Given the description of an element on the screen output the (x, y) to click on. 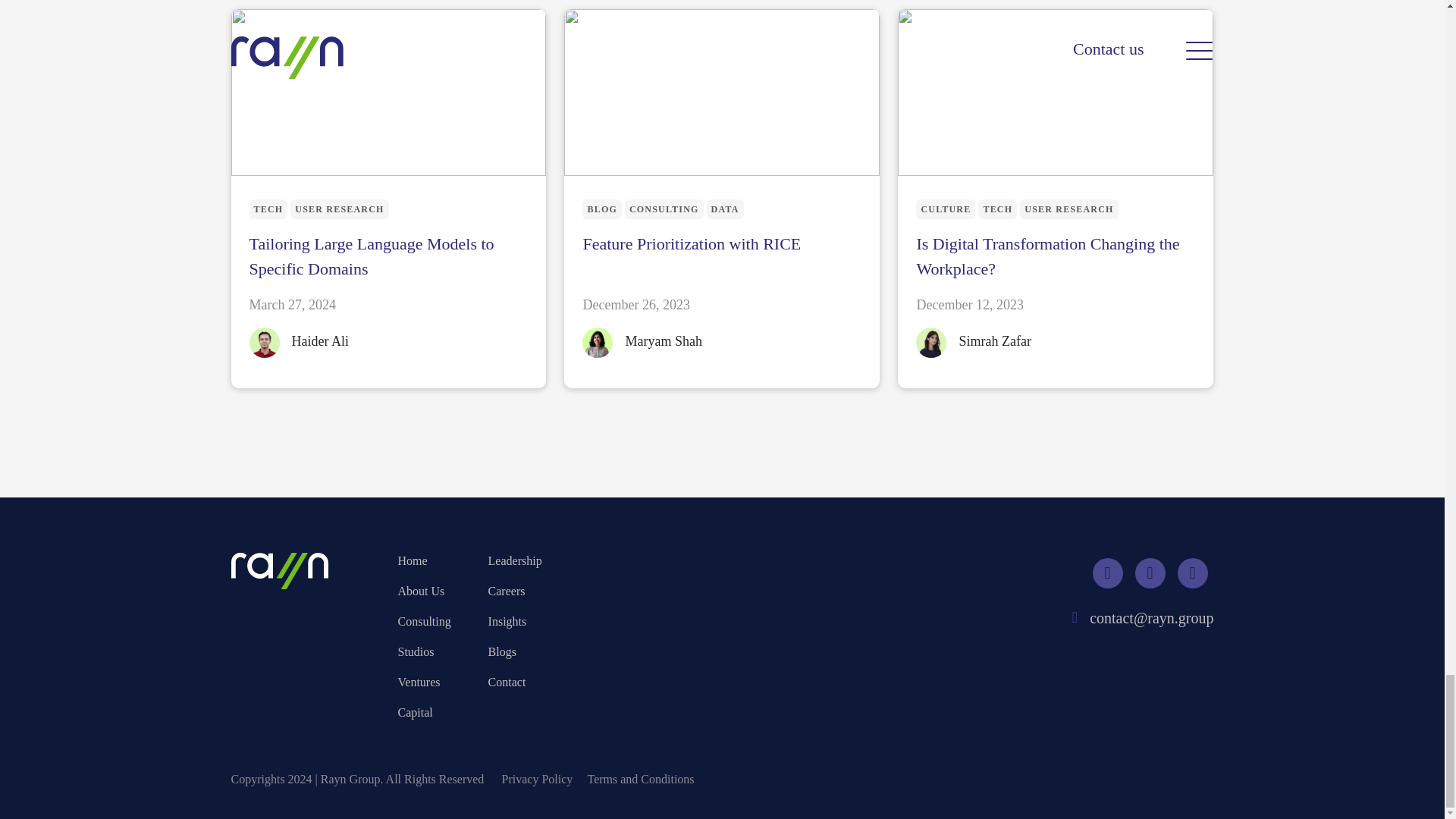
BLOG (601, 209)
Home (424, 561)
Ventures (424, 682)
DATA (725, 209)
USER RESEARCH (1069, 209)
Home (424, 561)
About Us (424, 591)
TECH (267, 209)
CONSULTING (663, 209)
CULTURE (945, 209)
Studios (424, 651)
TECH (997, 209)
USER RESEARCH (338, 209)
About Us (424, 591)
Consulting (424, 621)
